Given the description of an element on the screen output the (x, y) to click on. 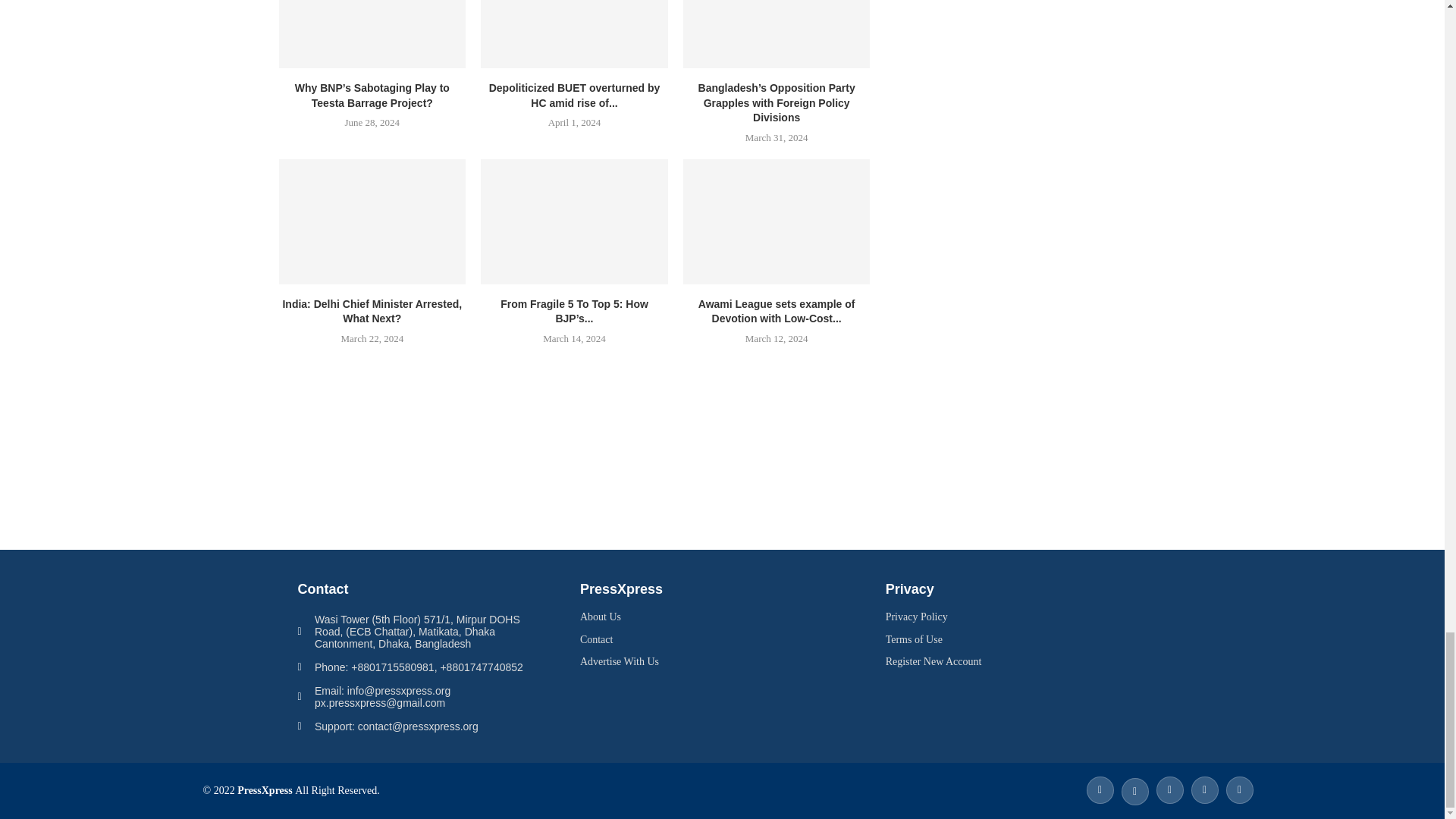
India: Delhi Chief Minister Arrested, What Next? (372, 220)
